Given the description of an element on the screen output the (x, y) to click on. 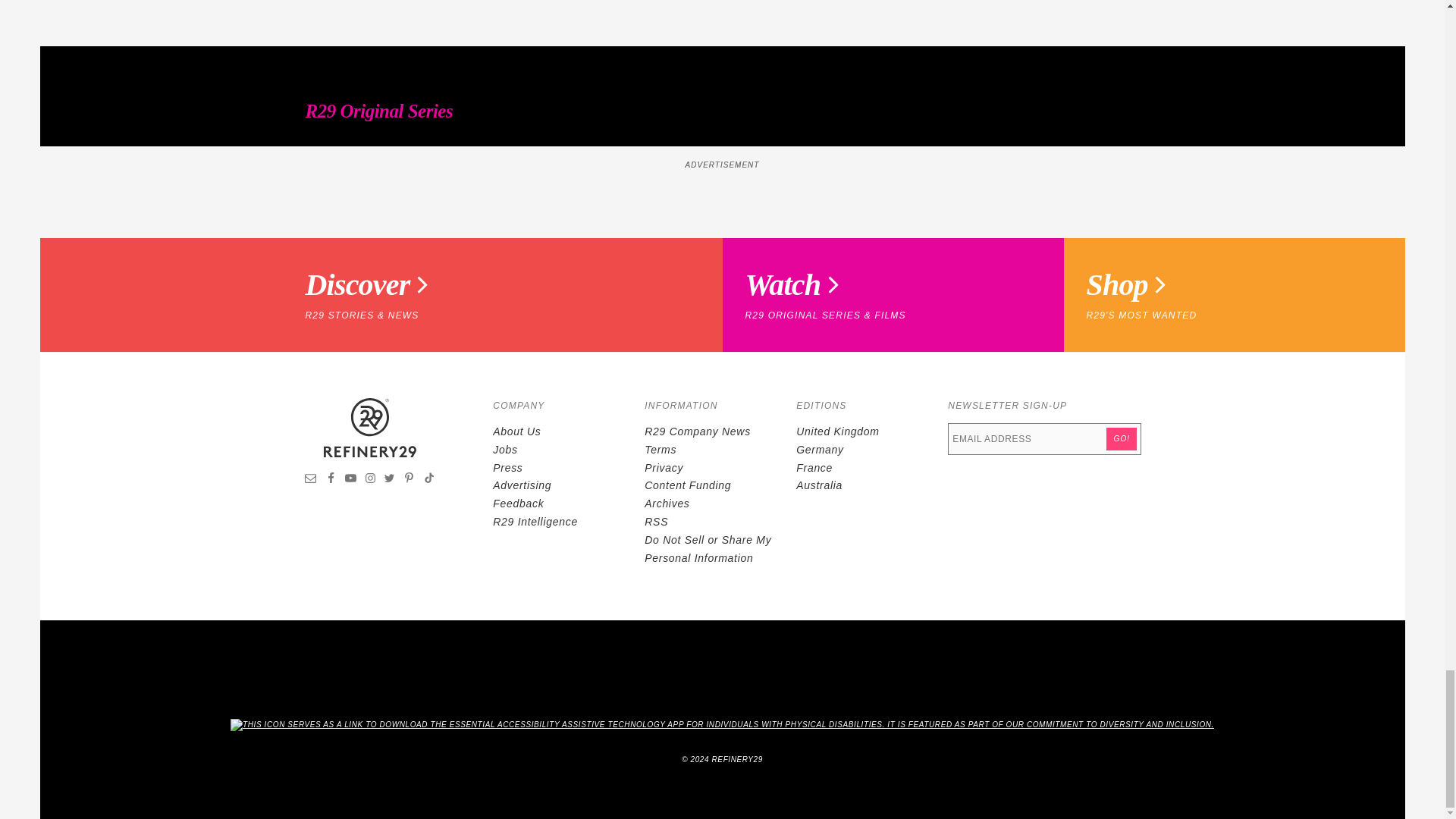
Visit Refinery29 on TikTok (428, 480)
Visit Refinery29 on YouTube (350, 480)
Sign up for newsletters (310, 480)
